Given the description of an element on the screen output the (x, y) to click on. 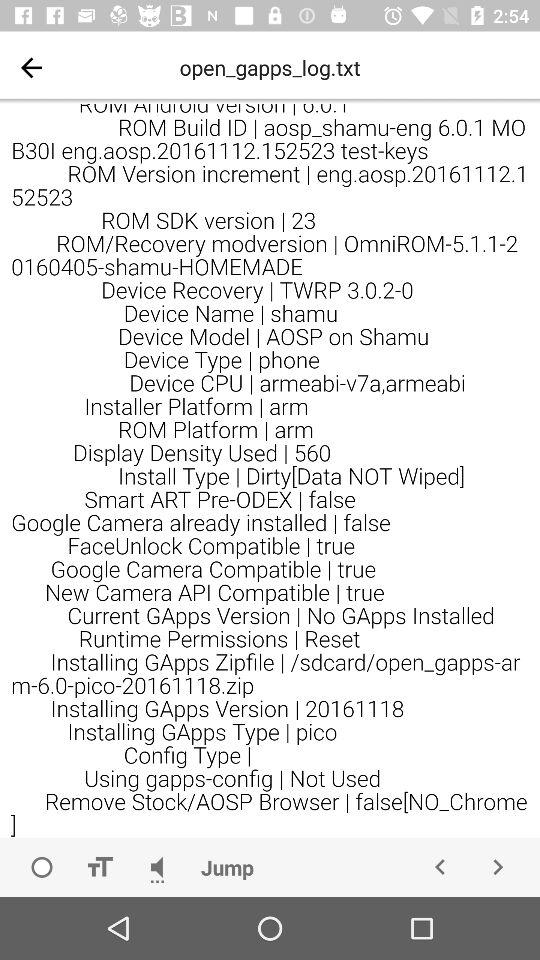
swipe to the jump (227, 866)
